Given the description of an element on the screen output the (x, y) to click on. 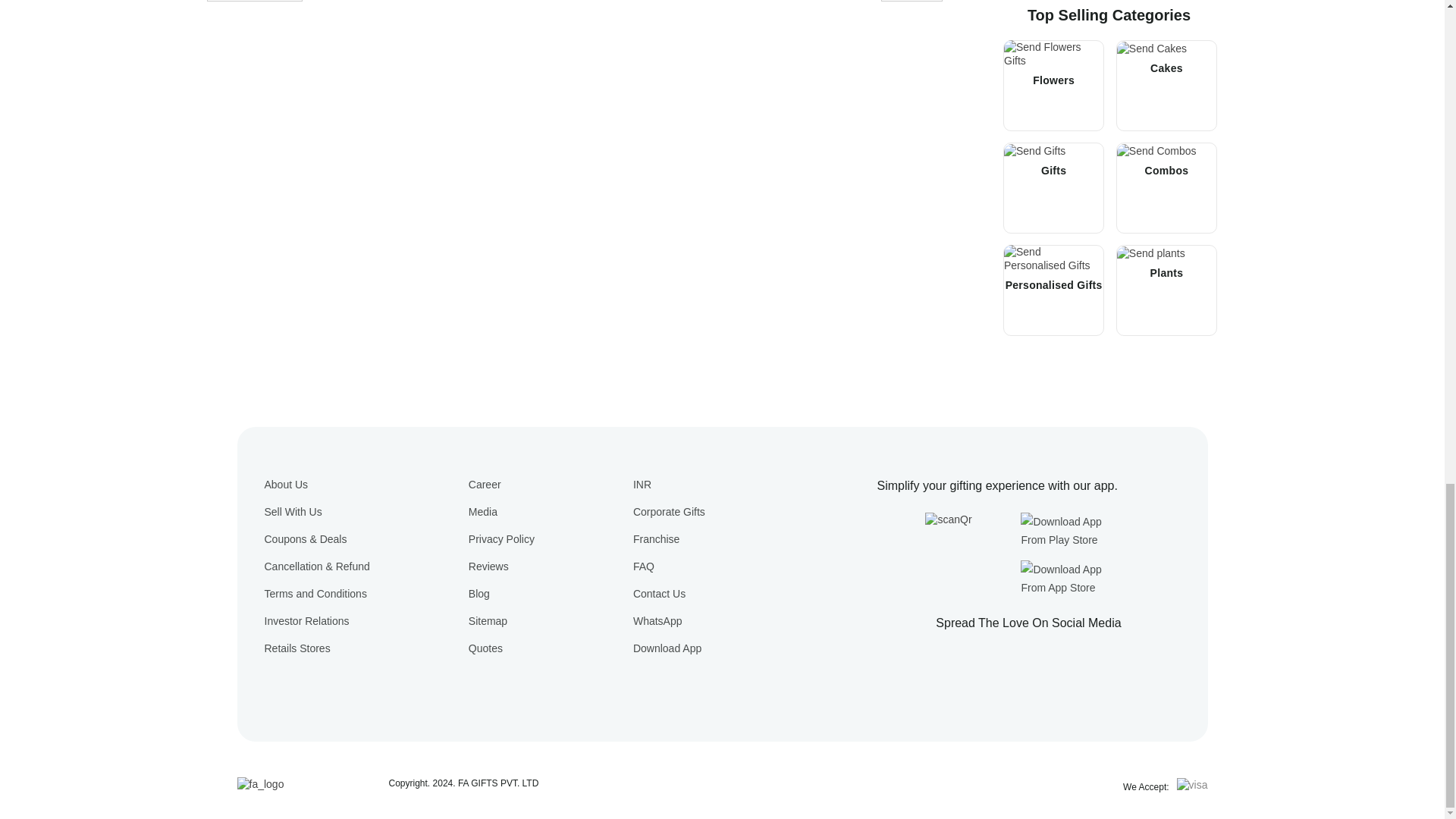
Send Cakes (1151, 48)
Send Flowers Gifts (1053, 53)
Send Gifts (1034, 151)
